Given the description of an element on the screen output the (x, y) to click on. 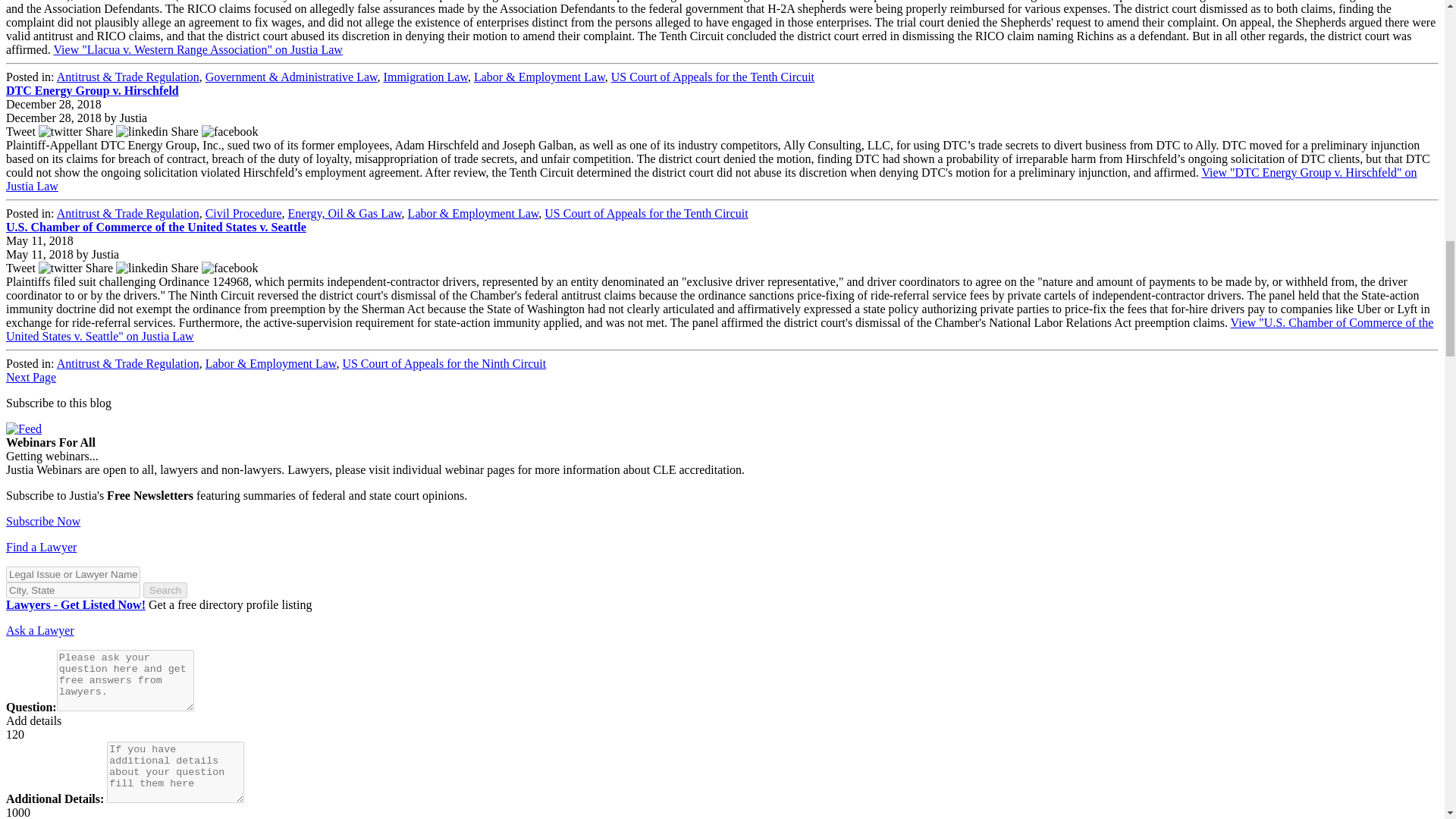
Search (164, 590)
Search (164, 590)
